Given the description of an element on the screen output the (x, y) to click on. 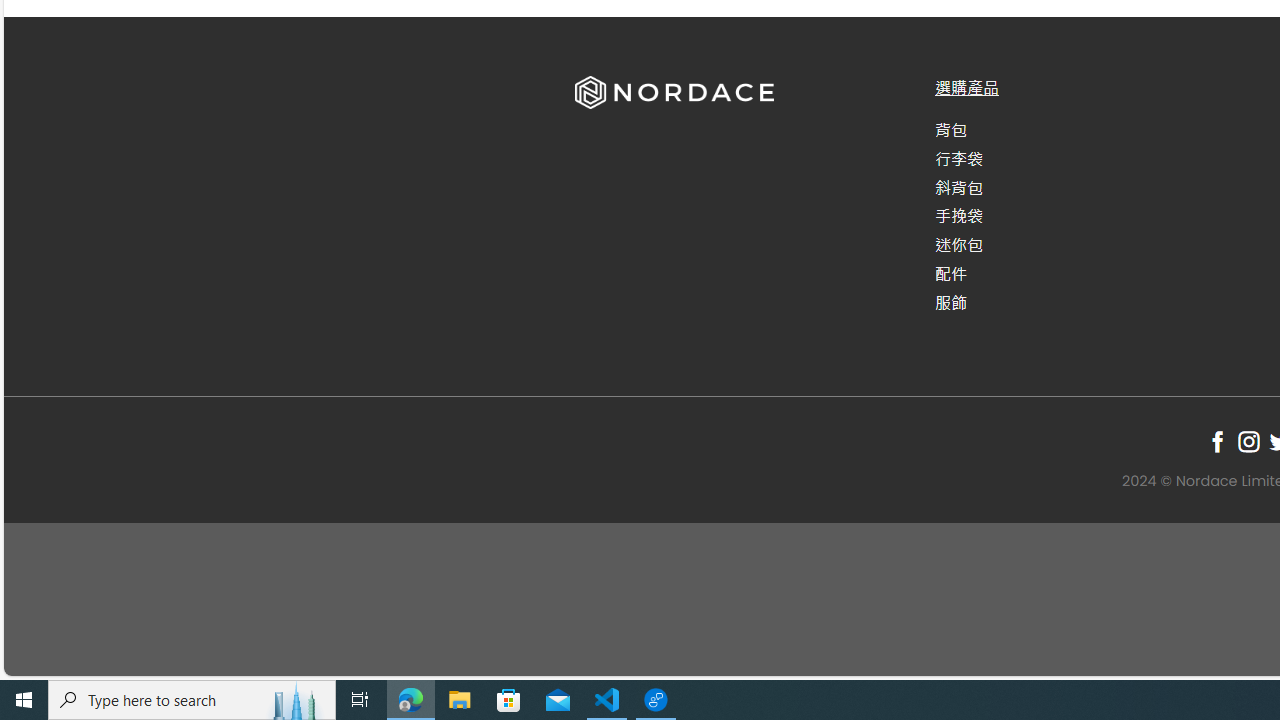
Follow on Facebook (1217, 441)
